Given the description of an element on the screen output the (x, y) to click on. 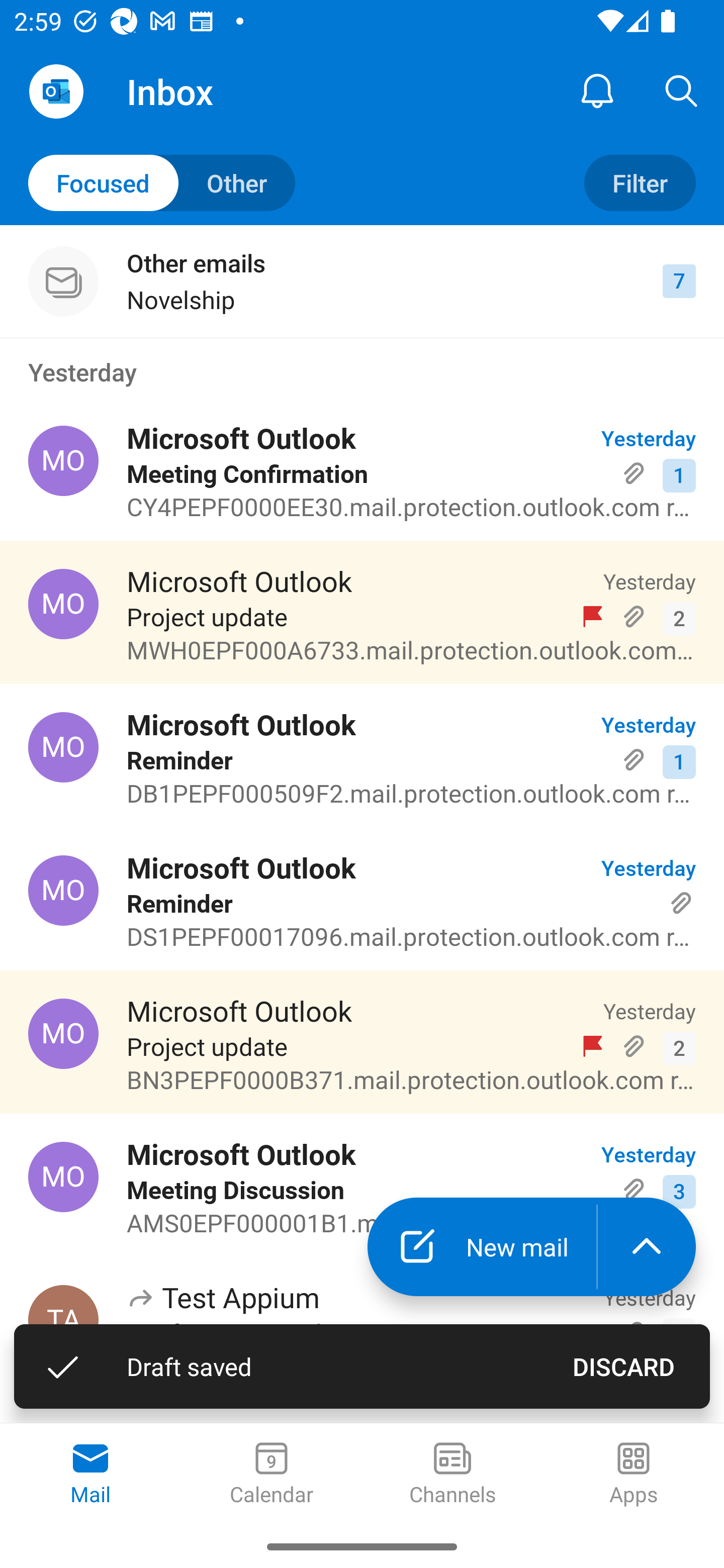
Notification Center (597, 90)
Search, ,  (681, 90)
Open Navigation Drawer (55, 91)
Toggle to other mails (161, 183)
Filter (639, 183)
Other emails Novelship 7 (362, 281)
New mail (481, 1246)
launch the extended action menu (646, 1246)
DISCARD (623, 1366)
Calendar (271, 1474)
Channels (452, 1474)
Apps (633, 1474)
